Given the description of an element on the screen output the (x, y) to click on. 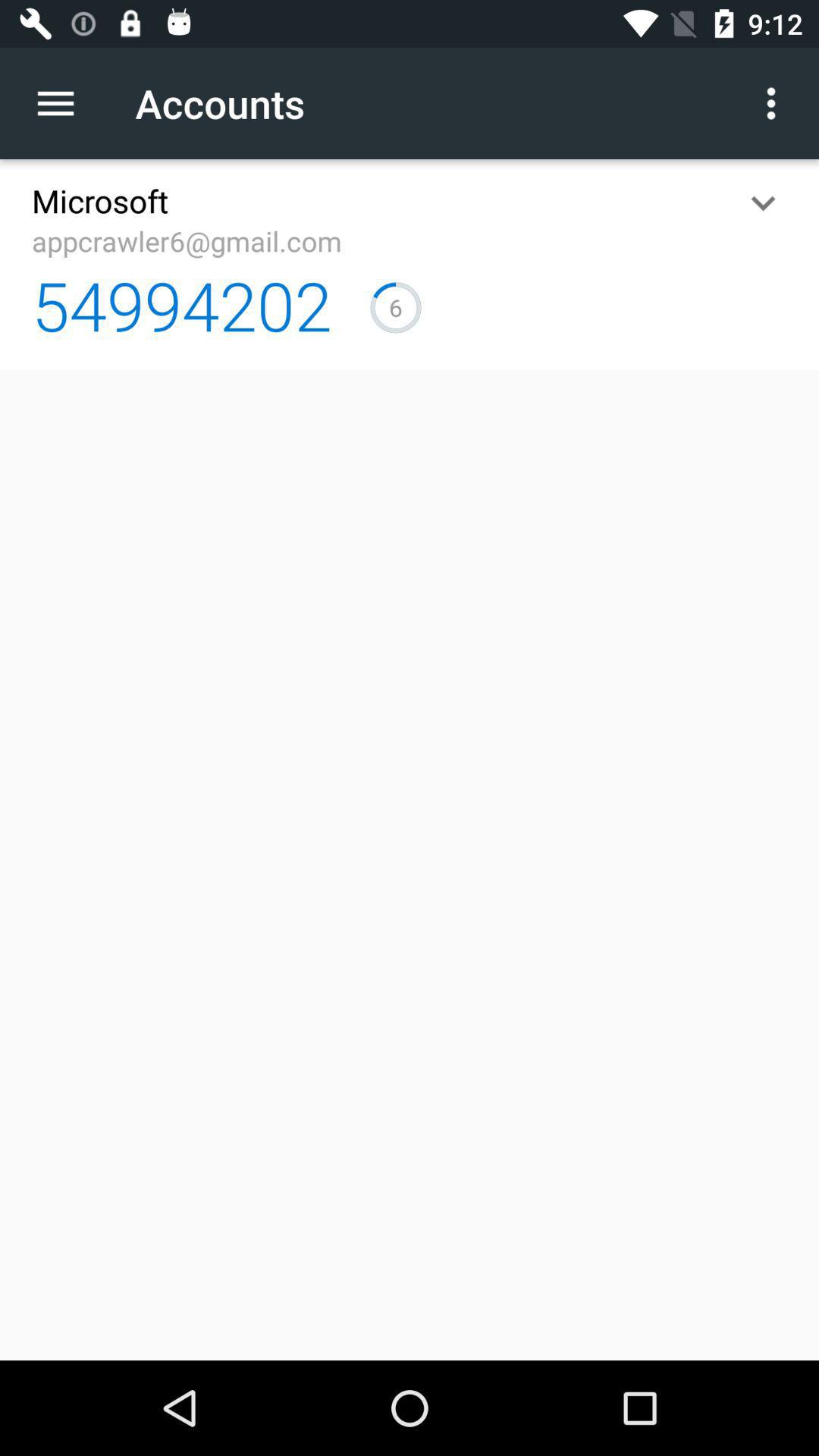
jump until microsoft app (99, 200)
